Given the description of an element on the screen output the (x, y) to click on. 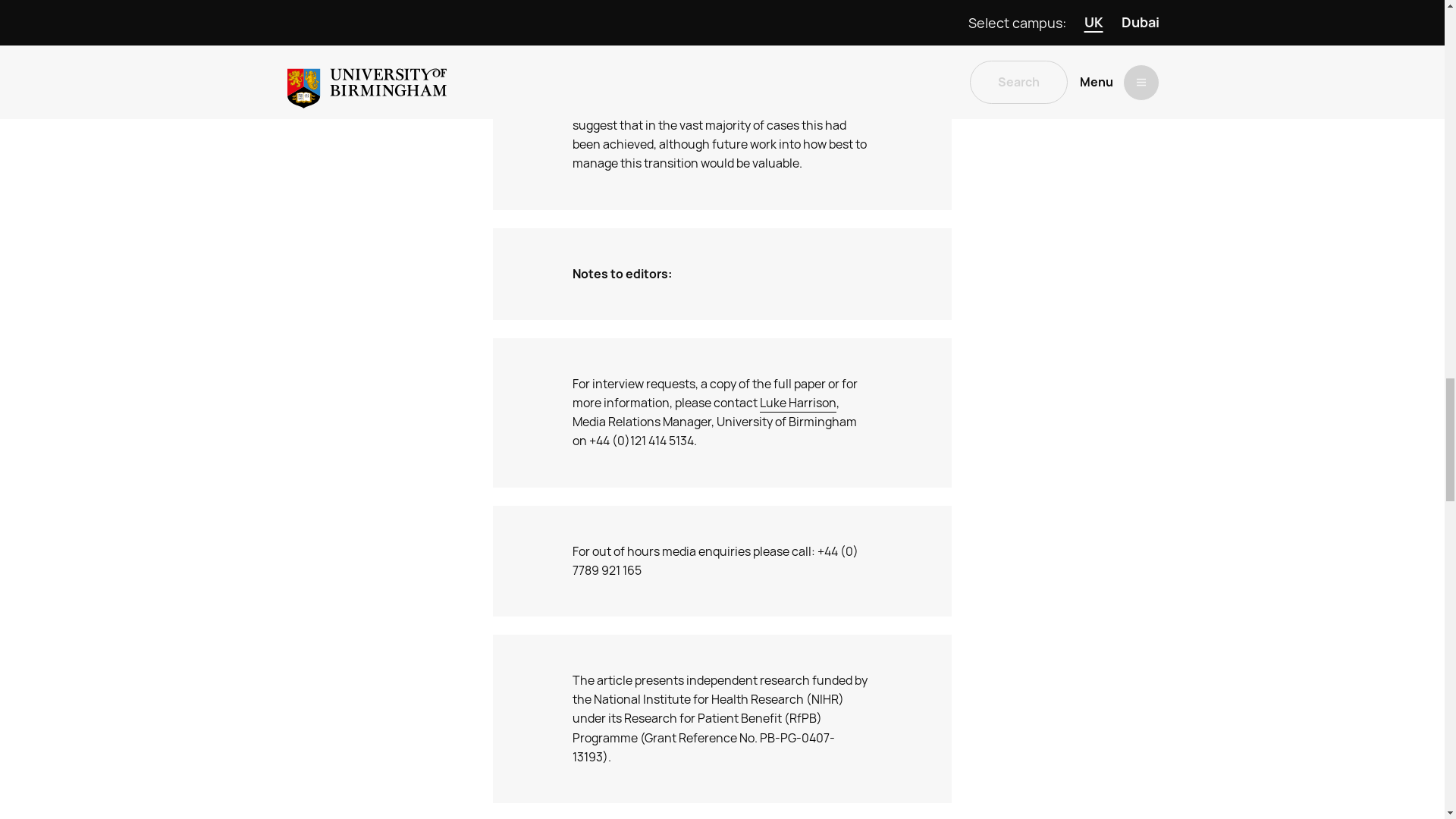
Luke Harrison (797, 402)
